Given the description of an element on the screen output the (x, y) to click on. 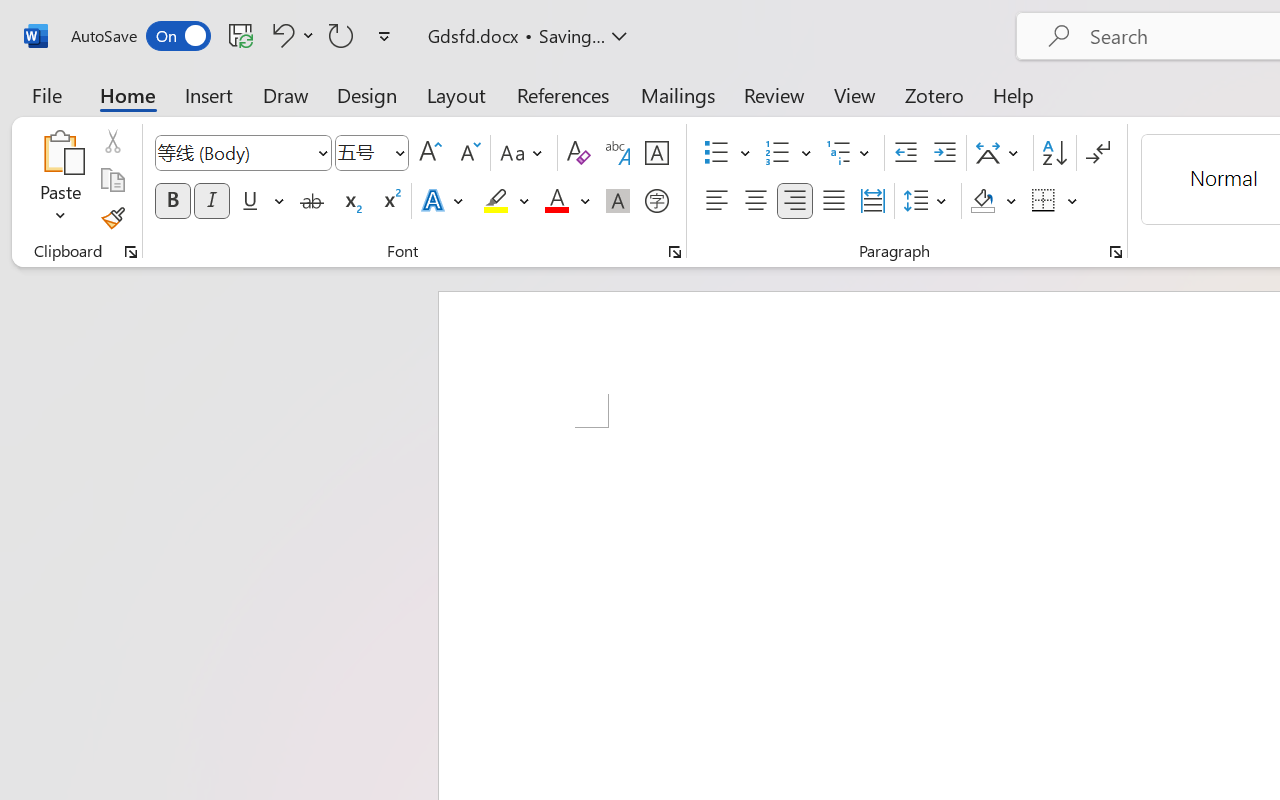
Superscript (390, 201)
Center (756, 201)
Justify (834, 201)
Bold (172, 201)
Enclose Characters... (656, 201)
Show/Hide Editing Marks (1098, 153)
Shading RGB(0, 0, 0) (982, 201)
Italic (212, 201)
